Given the description of an element on the screen output the (x, y) to click on. 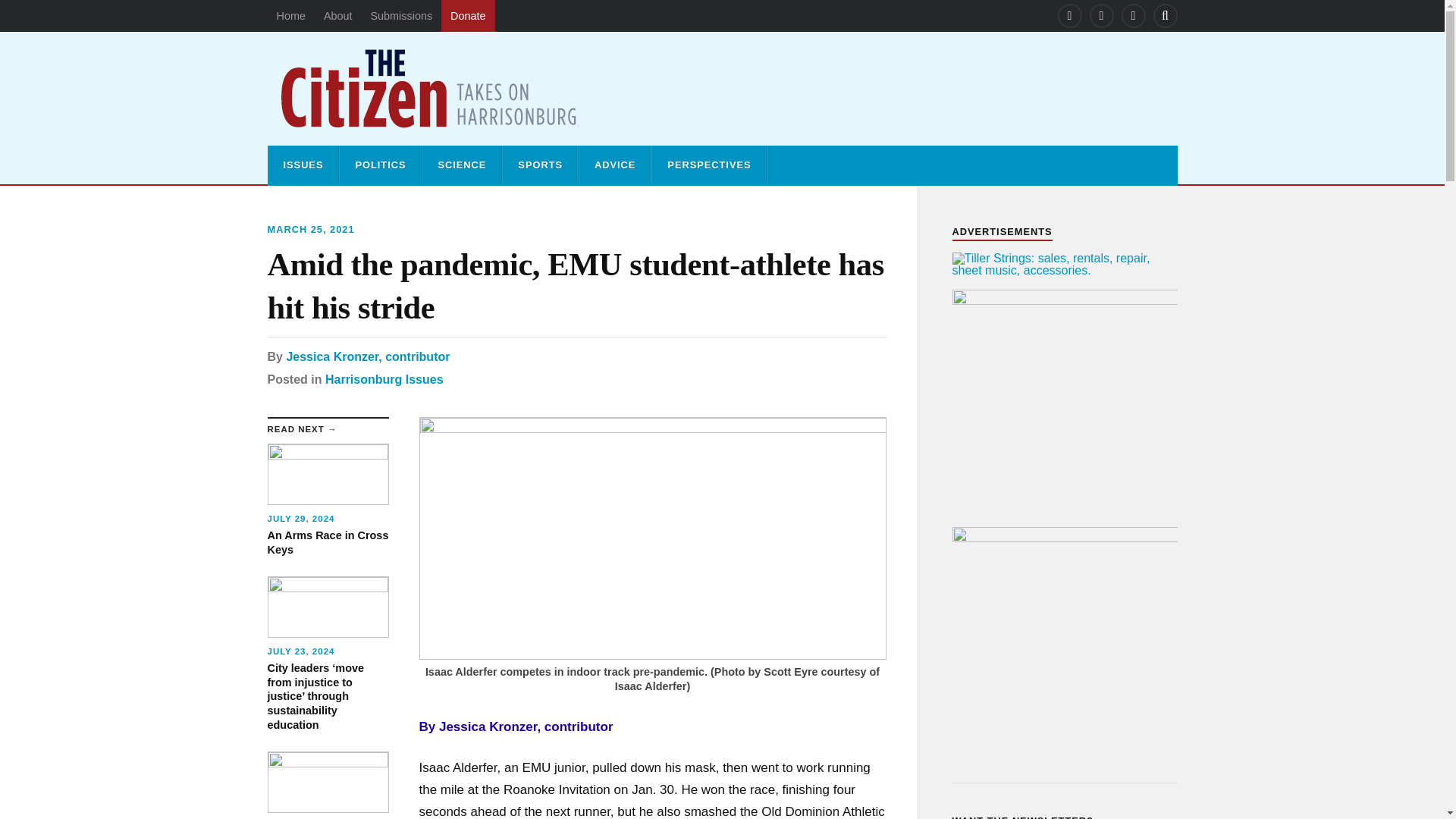
About (337, 15)
ISSUES (303, 165)
MARCH 25, 2021 (309, 229)
POLITICS (379, 165)
SPORTS (540, 165)
Donate (468, 15)
Harrisonburg Issues (327, 500)
Jessica Kronzer, contributor (384, 379)
Home (367, 356)
SCIENCE (290, 15)
Submissions (461, 165)
ADVICE (401, 15)
PERSPECTIVES (614, 165)
